Given the description of an element on the screen output the (x, y) to click on. 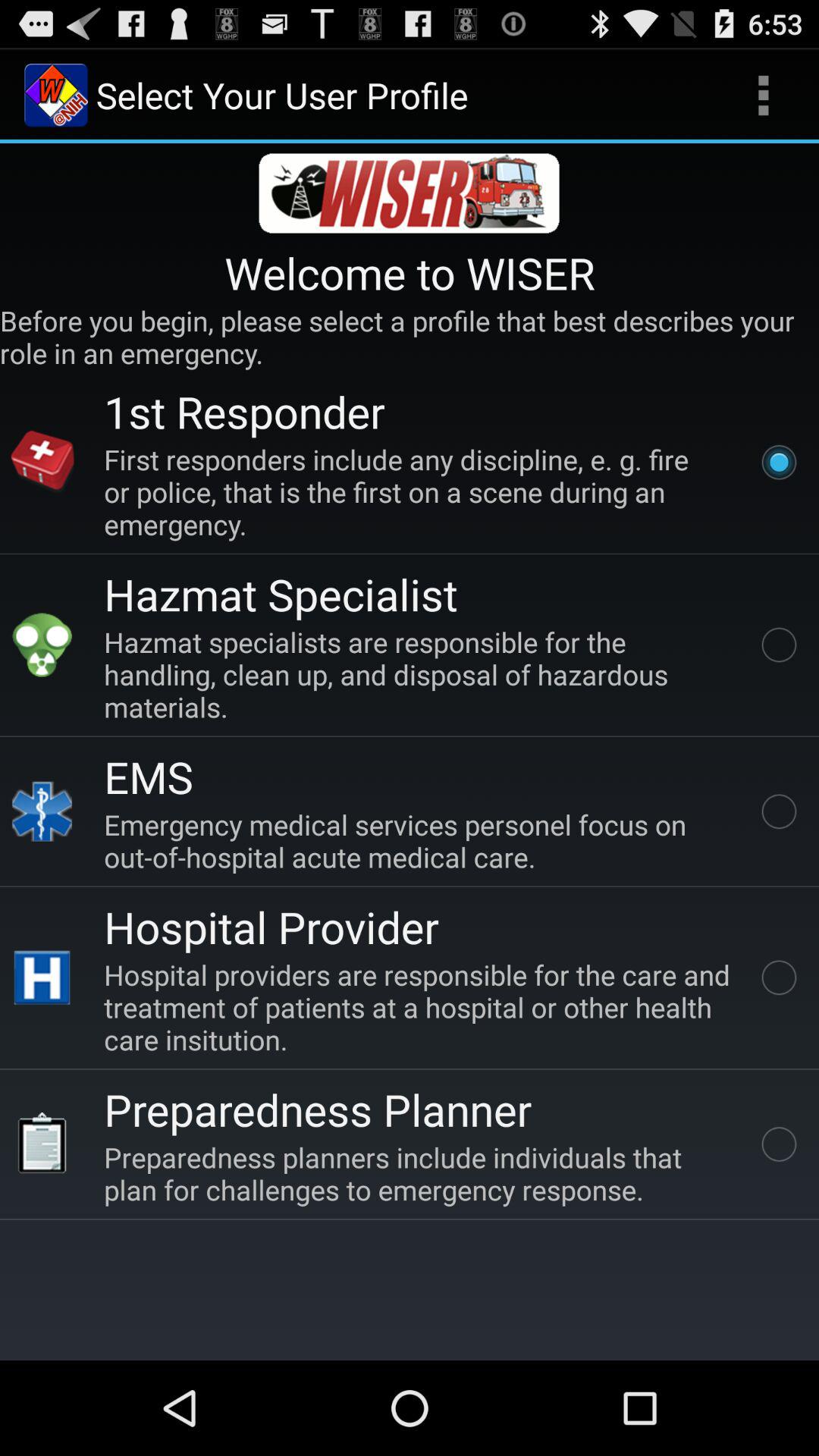
choose the app below the hospital provider icon (420, 1007)
